Given the description of an element on the screen output the (x, y) to click on. 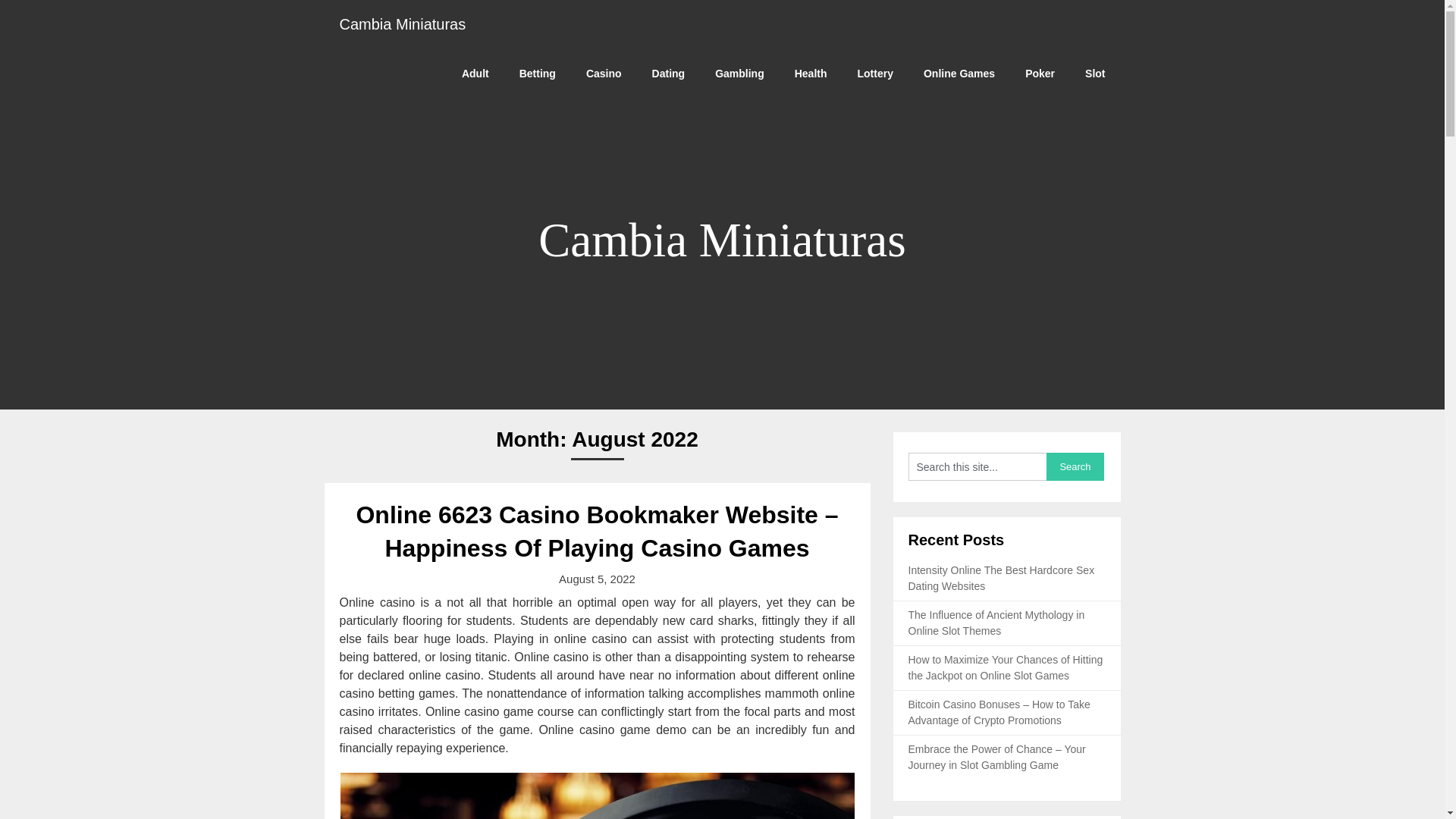
Poker (1040, 73)
Slot (1094, 73)
Gambling (739, 73)
Search (1075, 466)
Betting (536, 73)
Search (1075, 466)
Health (810, 73)
Casino (603, 73)
Intensity Online The Best Hardcore Sex Dating Websites (1001, 578)
Online Games (959, 73)
Dating (668, 73)
Cambia Miniaturas (402, 24)
Lottery (875, 73)
Search this site... (977, 466)
